Given the description of an element on the screen output the (x, y) to click on. 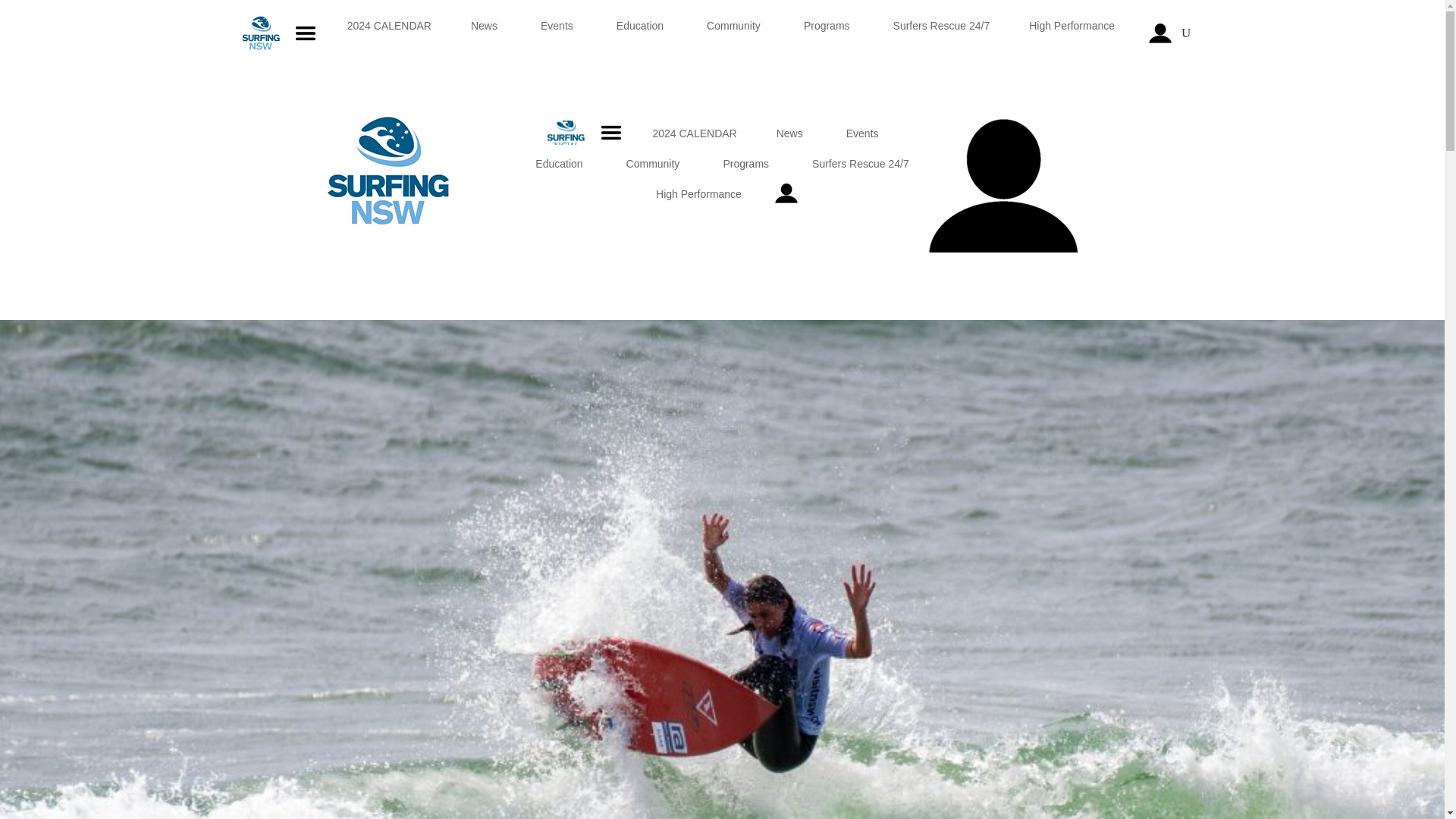
Community (735, 33)
2024 CALENDAR (389, 33)
News (486, 33)
Programs (828, 33)
High Performance (1073, 33)
Events (558, 33)
profile-image-black (1002, 186)
Education (641, 33)
NSWlogoround-web (388, 170)
